Given the description of an element on the screen output the (x, y) to click on. 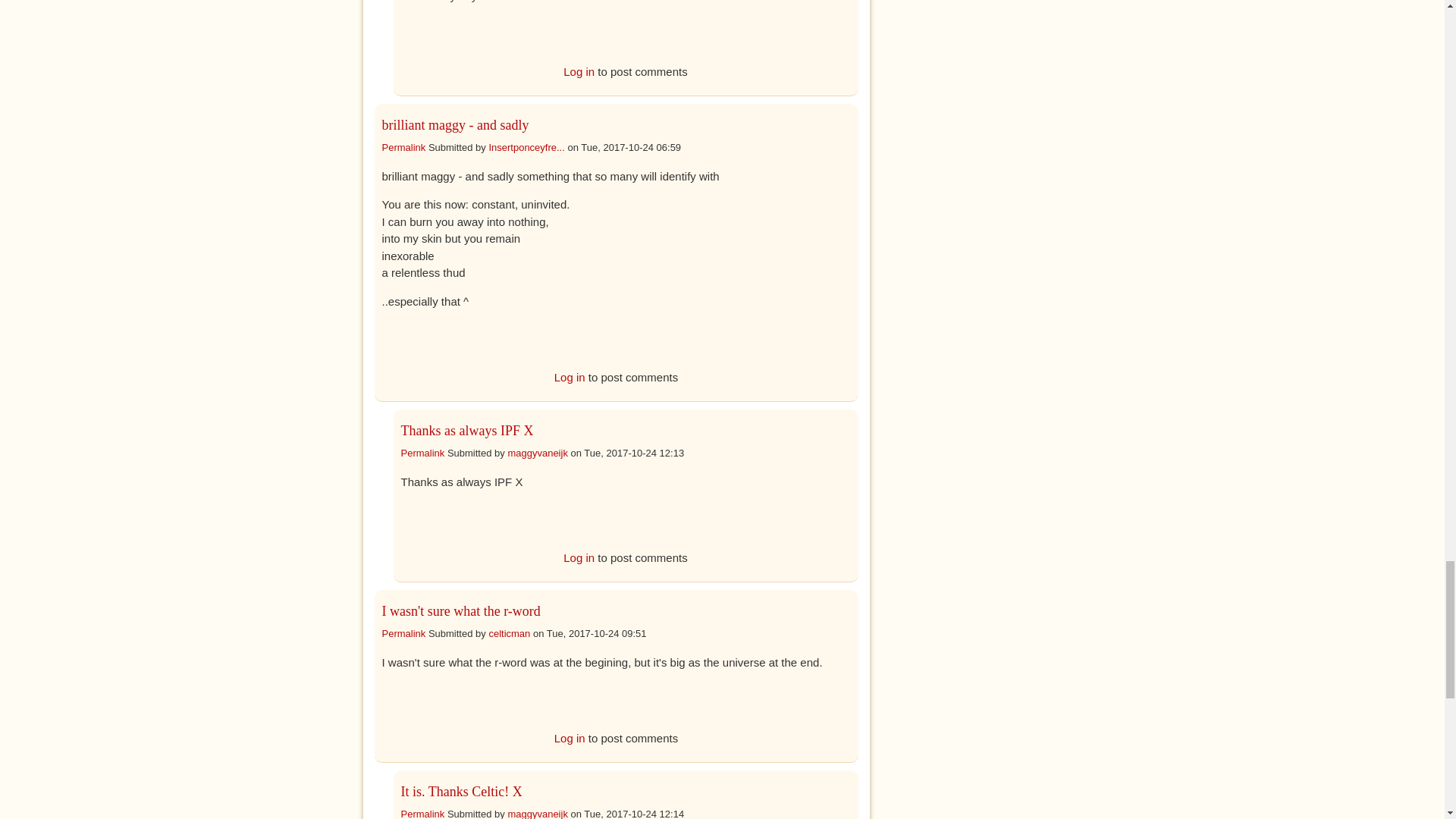
View user profile. (536, 813)
View user profile. (536, 452)
View user profile. (525, 147)
View user profile. (508, 633)
